Given the description of an element on the screen output the (x, y) to click on. 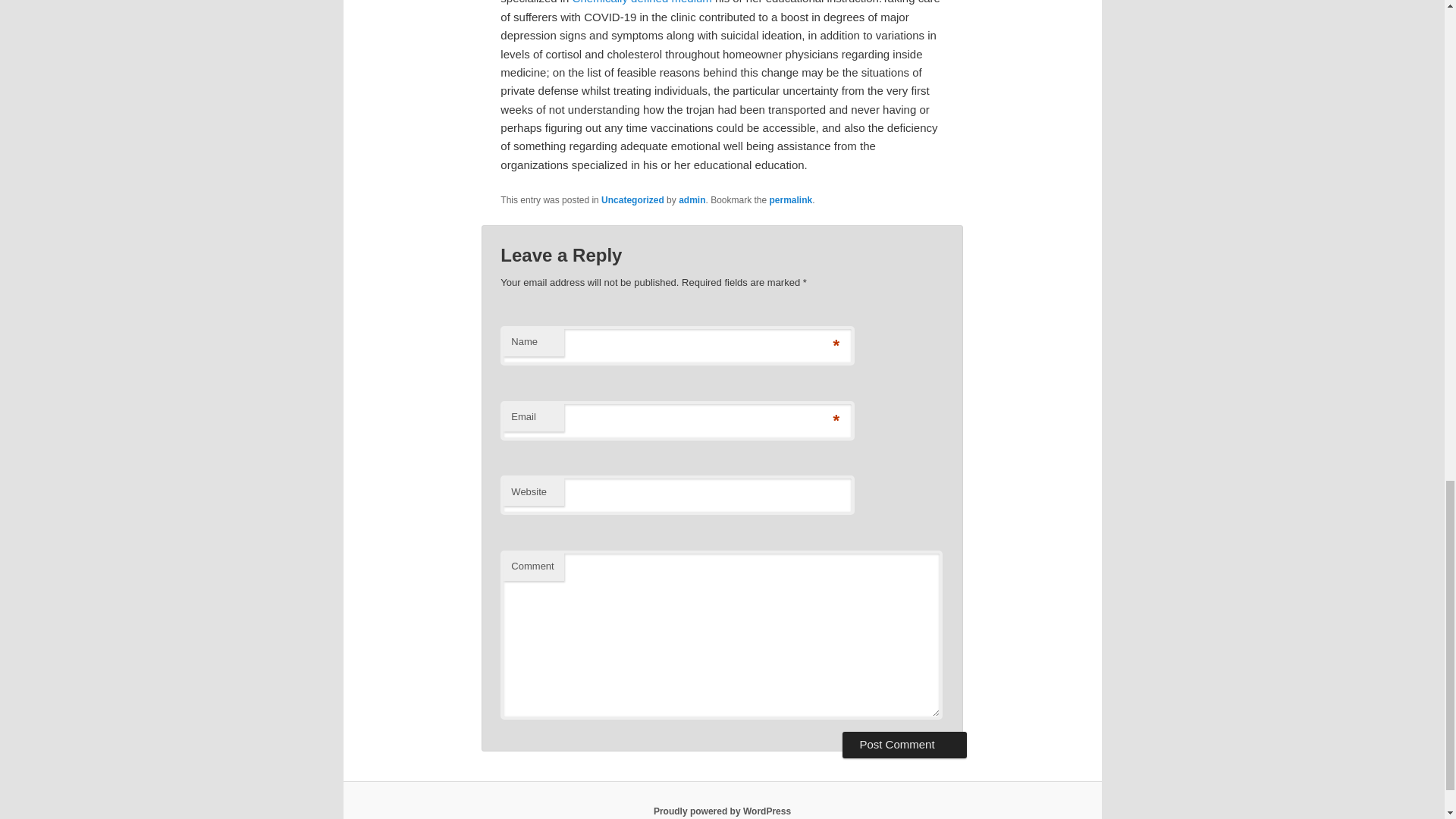
Post Comment (904, 744)
permalink (791, 199)
Proudly powered by WordPress (721, 810)
Uncategorized (632, 199)
Semantic Personal Publishing Platform (721, 810)
Post Comment (904, 744)
Chemically defined medium (641, 2)
admin (691, 199)
View all posts in Uncategorized (632, 199)
